Given the description of an element on the screen output the (x, y) to click on. 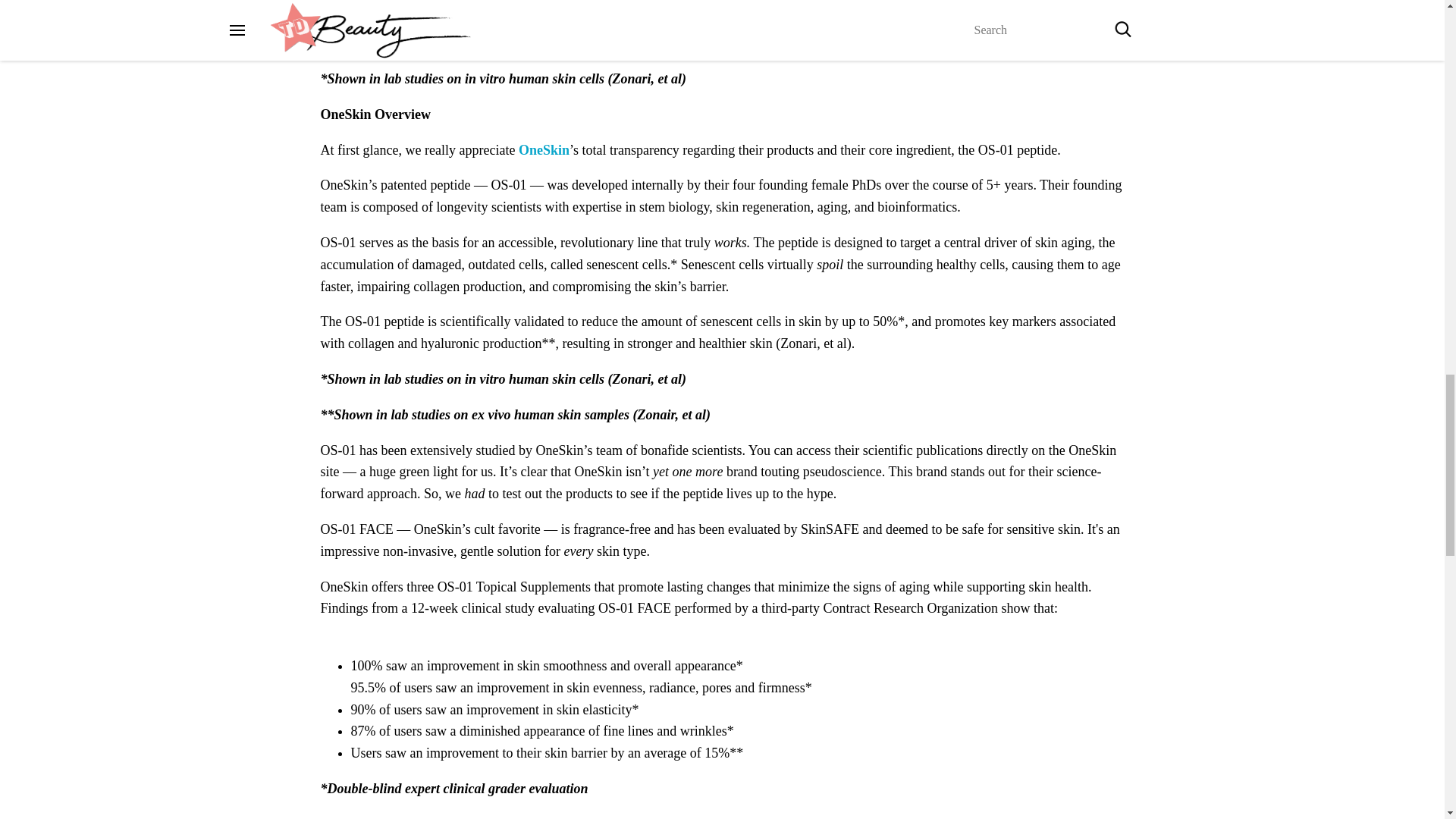
OneSkin (543, 150)
